Given the description of an element on the screen output the (x, y) to click on. 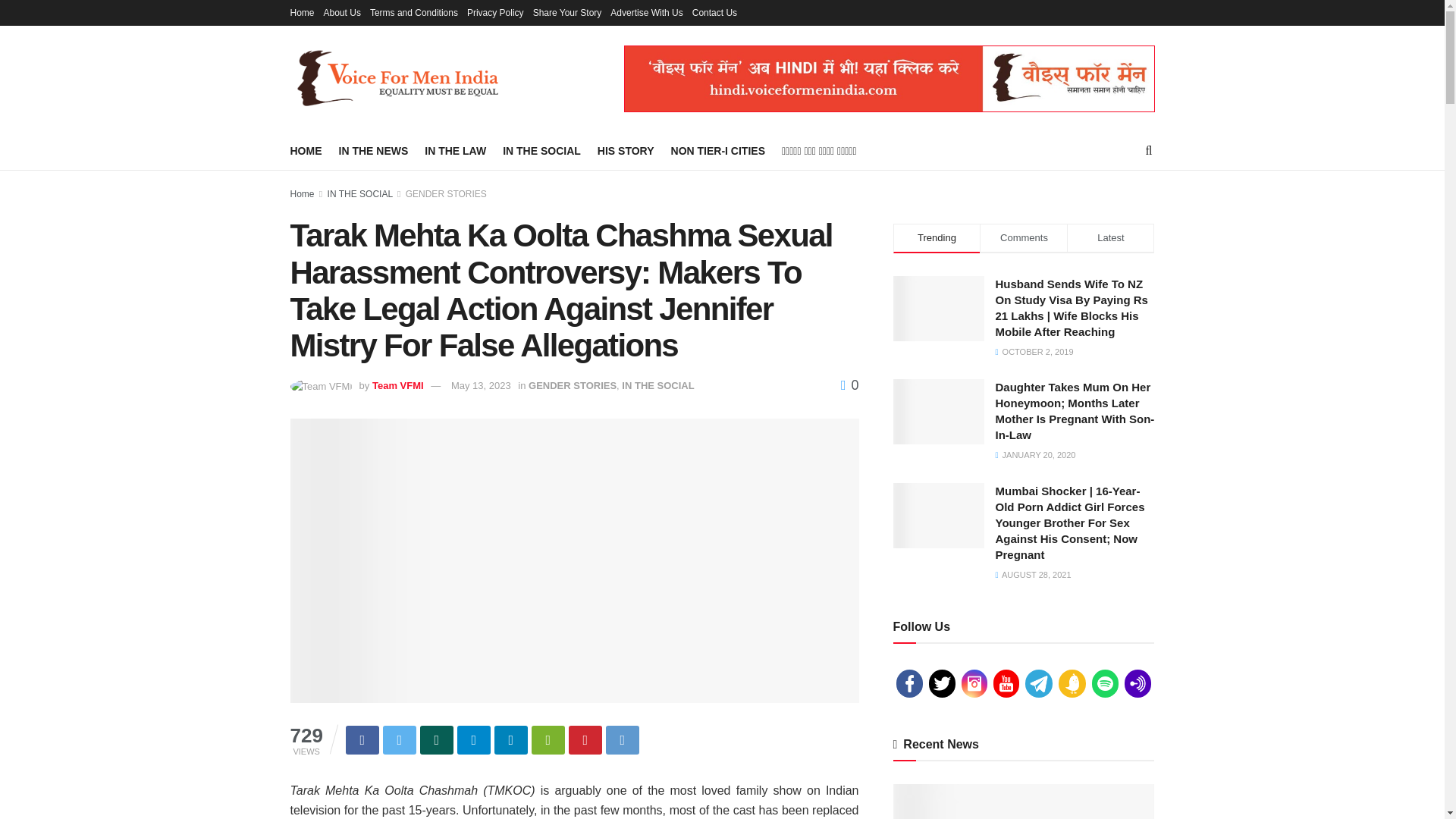
Privacy Policy (495, 12)
IN THE SOCIAL (541, 150)
Home (301, 12)
IN THE LAW (455, 150)
Terms and Conditions (413, 12)
HOME (305, 150)
Share Your Story (567, 12)
NON TIER-I CITIES (718, 150)
About Us (342, 12)
IN THE NEWS (372, 150)
Contact Us (714, 12)
Advertise With Us (646, 12)
HIS STORY (624, 150)
